Given the description of an element on the screen output the (x, y) to click on. 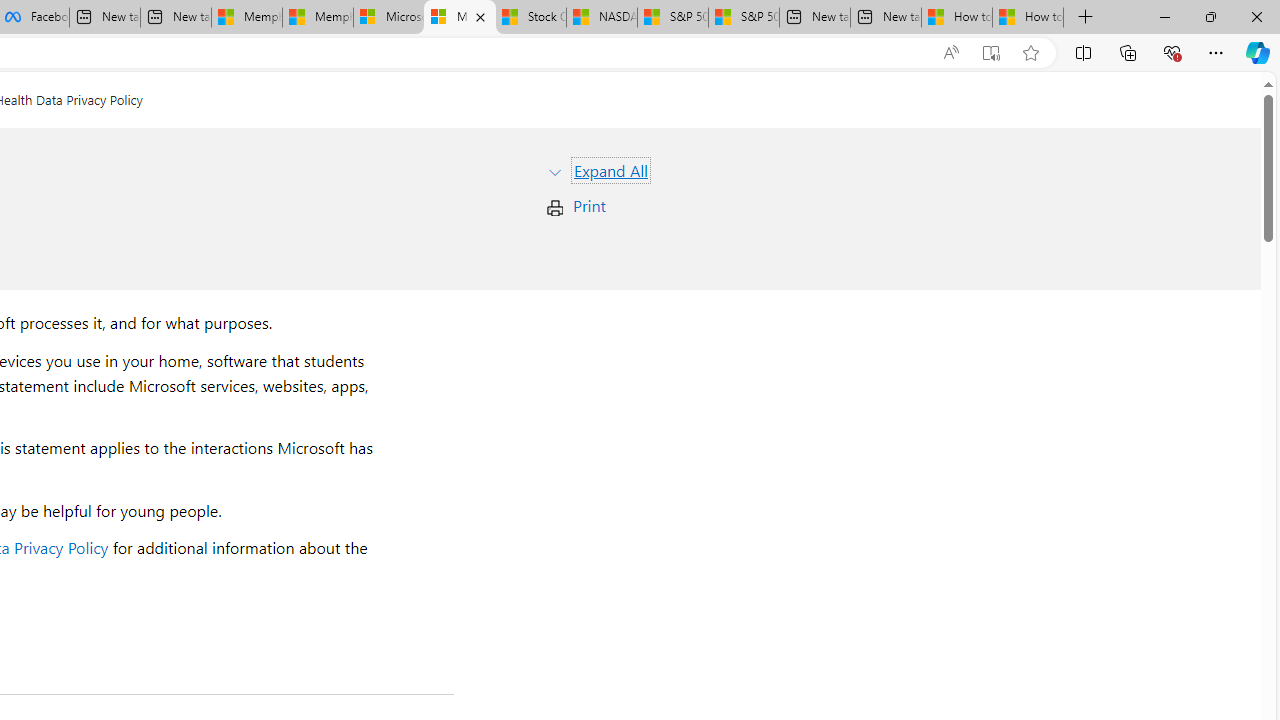
Read aloud this page (Ctrl+Shift+U) (950, 53)
New tab (886, 17)
Settings and more (Alt+F) (1215, 52)
How to Use a Monitor With Your Closed Laptop (1028, 17)
Print (589, 205)
S&P 500, Nasdaq end lower, weighed by Nvidia dip | Watch (744, 17)
